Given the description of an element on the screen output the (x, y) to click on. 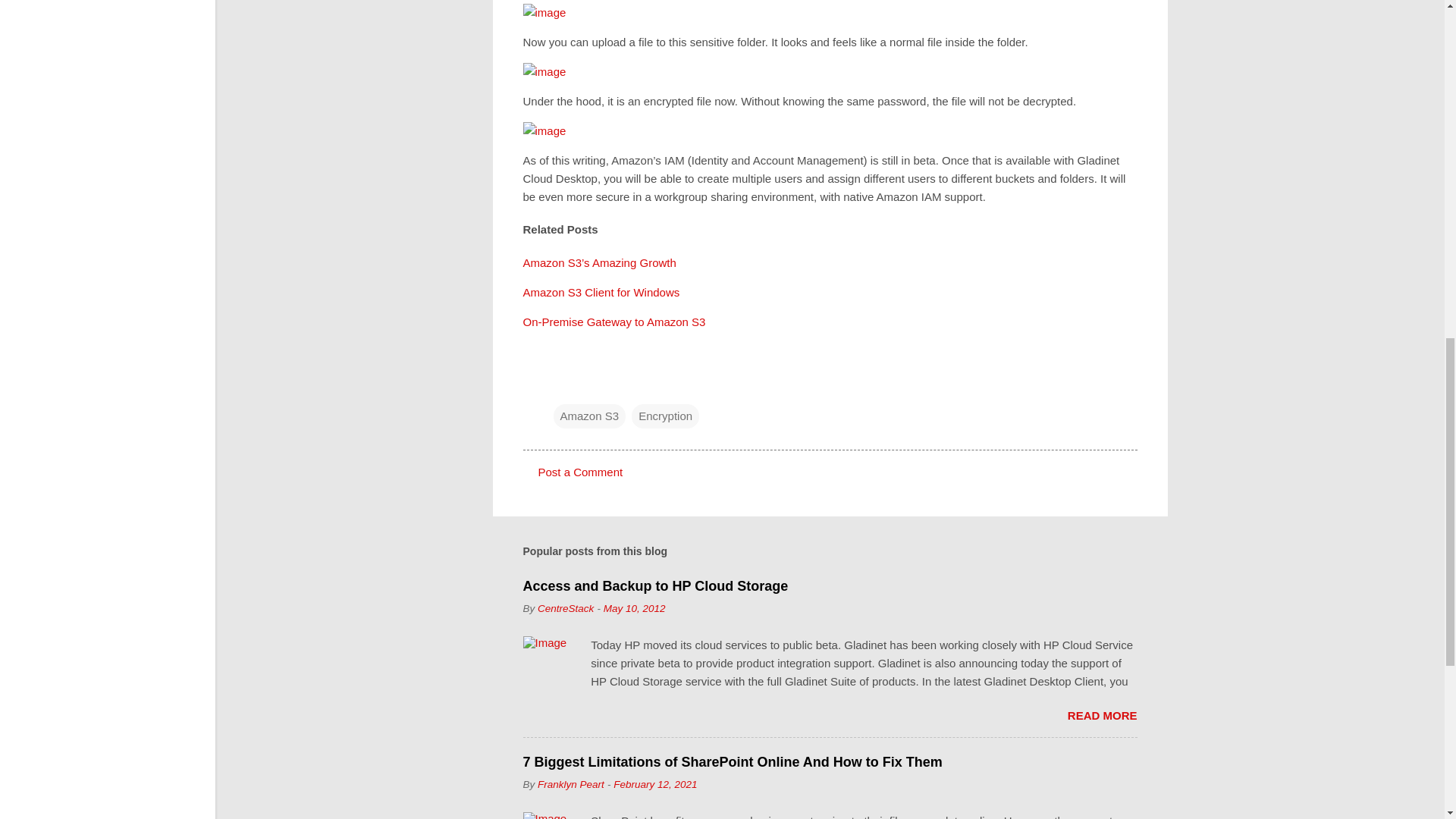
READ MORE (1102, 715)
February 12, 2021 (654, 784)
On-Premise Gateway to Amazon S3 (614, 321)
CentreStack (565, 608)
Post a Comment (580, 472)
Encryption (664, 416)
May 10, 2012 (634, 608)
Amazon S3 Client for Windows (600, 291)
Amazon S3 (589, 416)
Access and Backup to HP Cloud Storage (655, 585)
Franklyn Peart (570, 784)
